Given the description of an element on the screen output the (x, y) to click on. 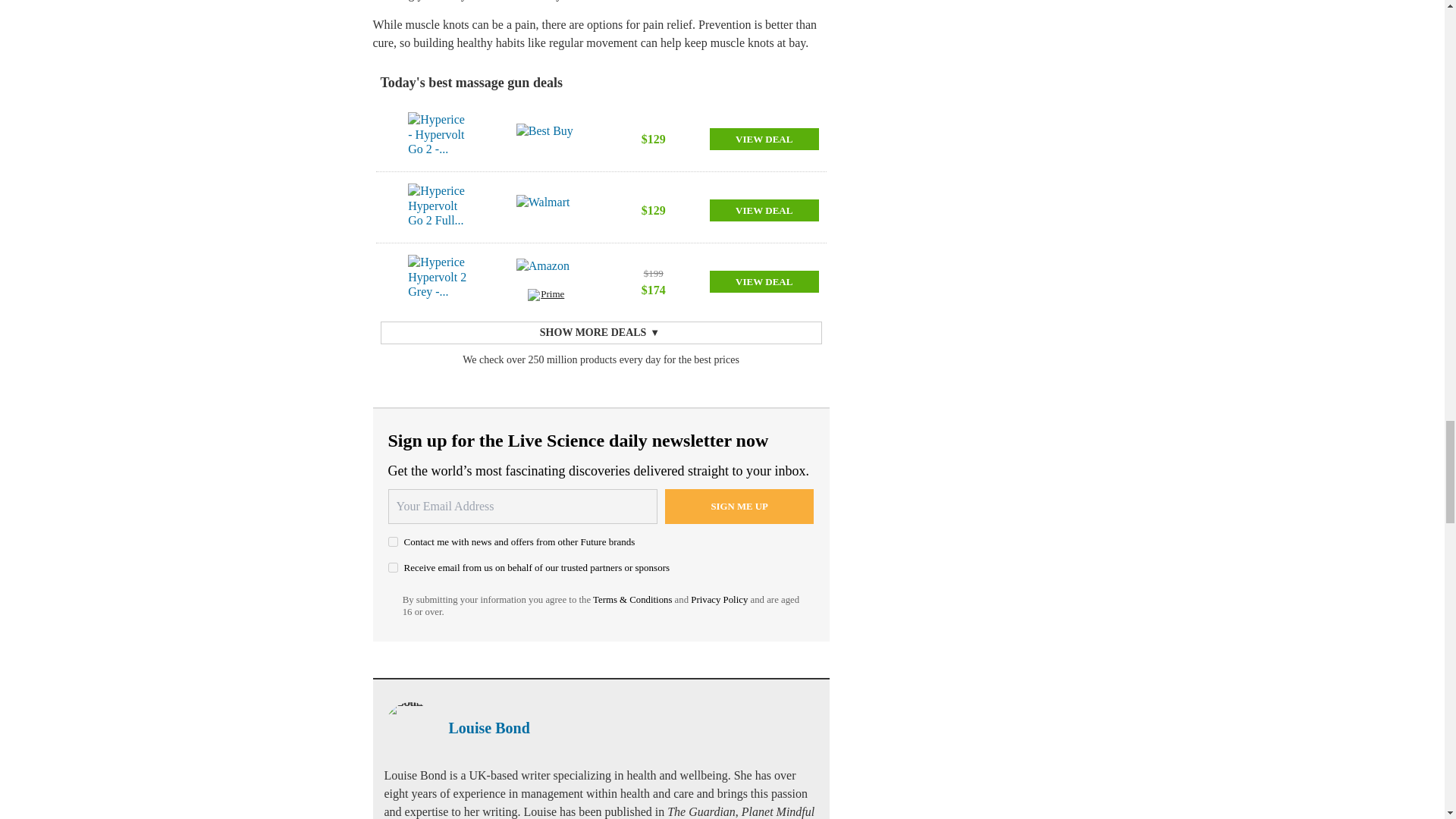
Walmart (546, 209)
Sign me up (739, 506)
Hyperice - Hypervolt Go 2 -... (437, 138)
Amazon (546, 273)
on (392, 542)
Best Buy (546, 138)
on (392, 567)
Hyperice Hypervolt 2 Grey -... (437, 280)
Prime (546, 296)
Hyperice Hypervolt Go 2 Full... (437, 209)
